Given the description of an element on the screen output the (x, y) to click on. 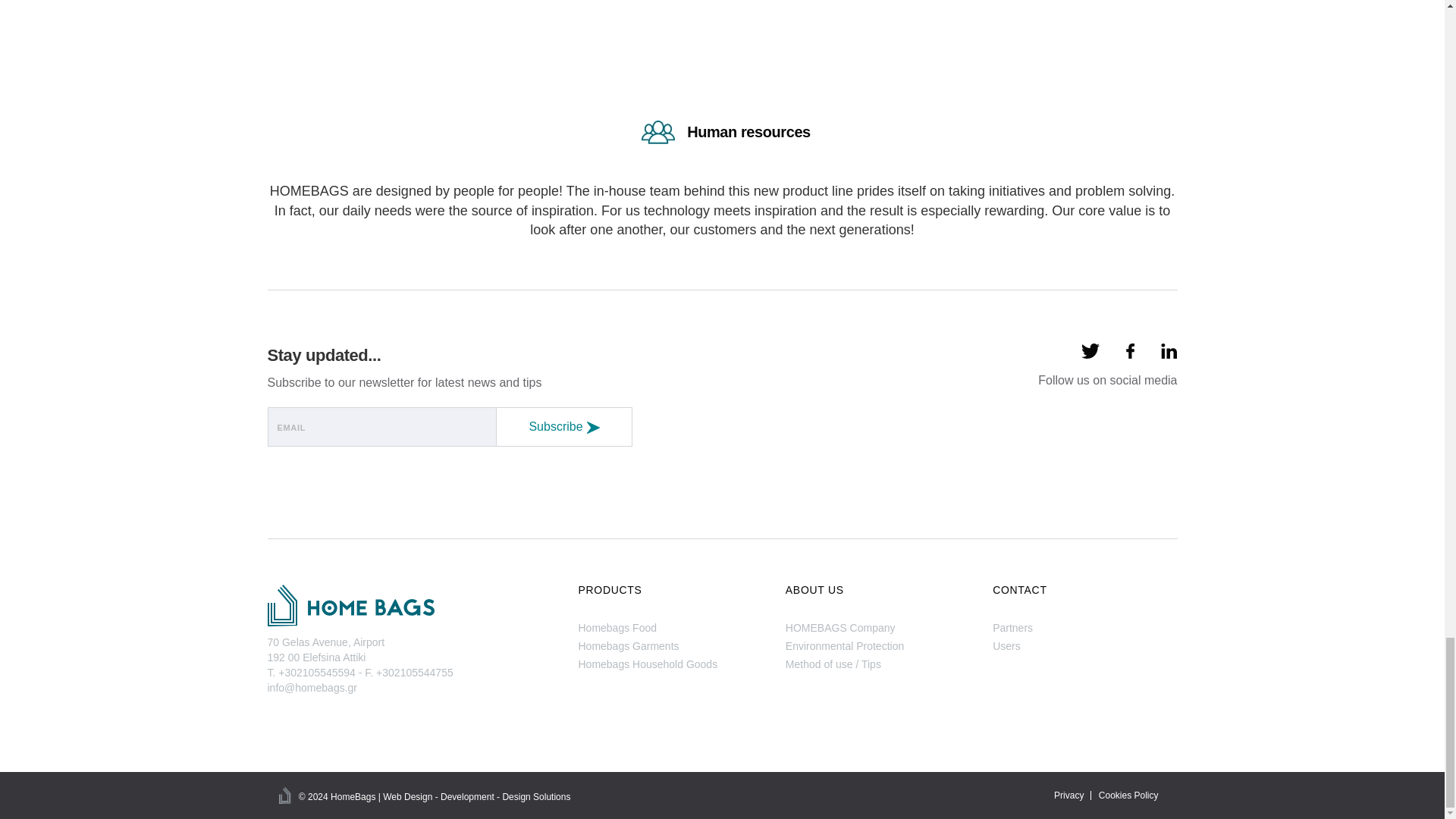
Environmental Protection (845, 645)
Cookies Policy (1128, 795)
HOMEBAGS Company (840, 627)
Homebags Garments (628, 645)
Homebags Household Goods (647, 664)
Privacy (1068, 795)
Users (1006, 645)
Subscribe (563, 426)
Homebags Food (617, 627)
Partners (1012, 627)
Web Design - Development (438, 796)
